Given the description of an element on the screen output the (x, y) to click on. 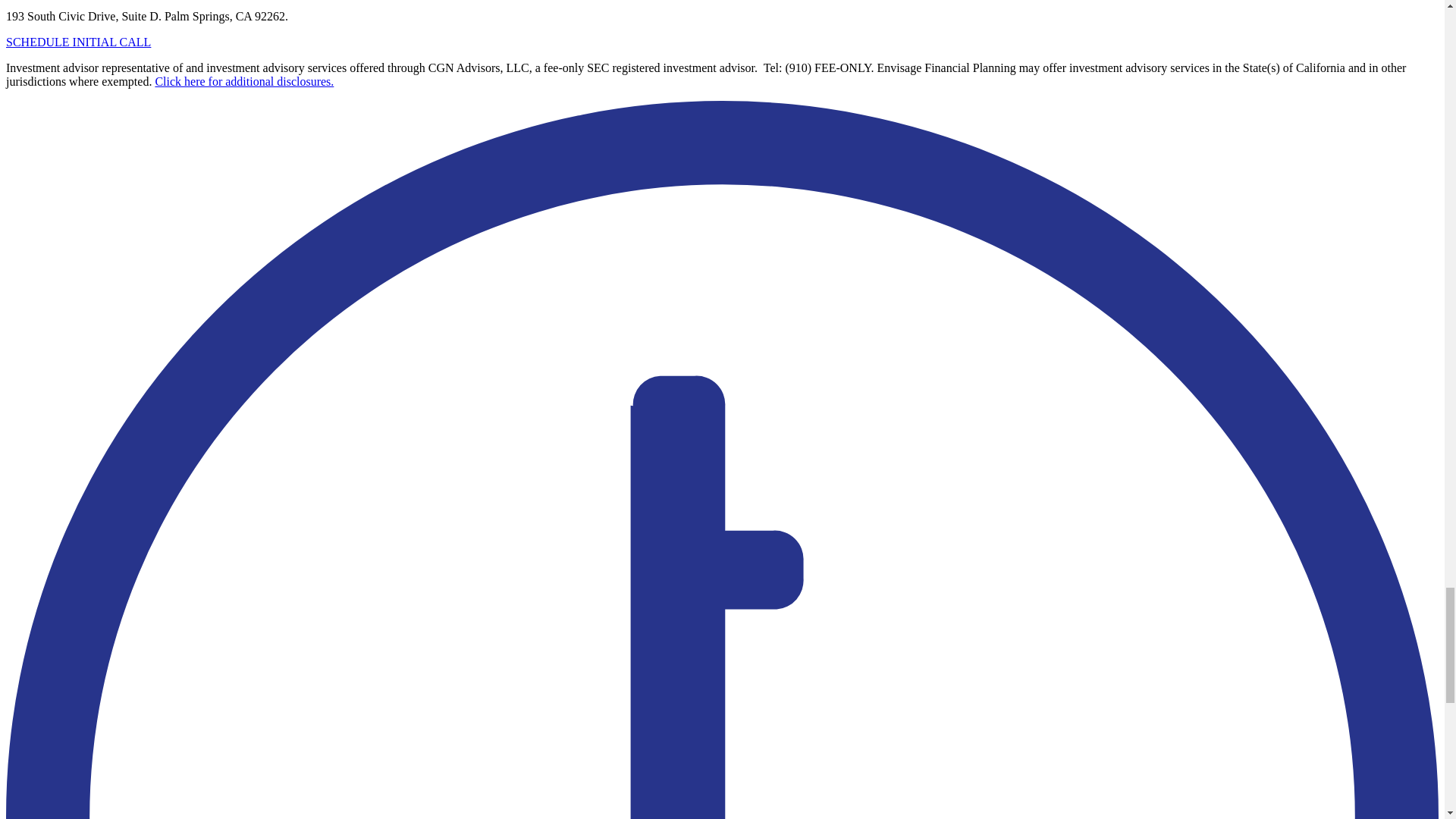
Click here for additional disclosures. (243, 81)
SCHEDULE INITIAL CALL (78, 42)
